Given the description of an element on the screen output the (x, y) to click on. 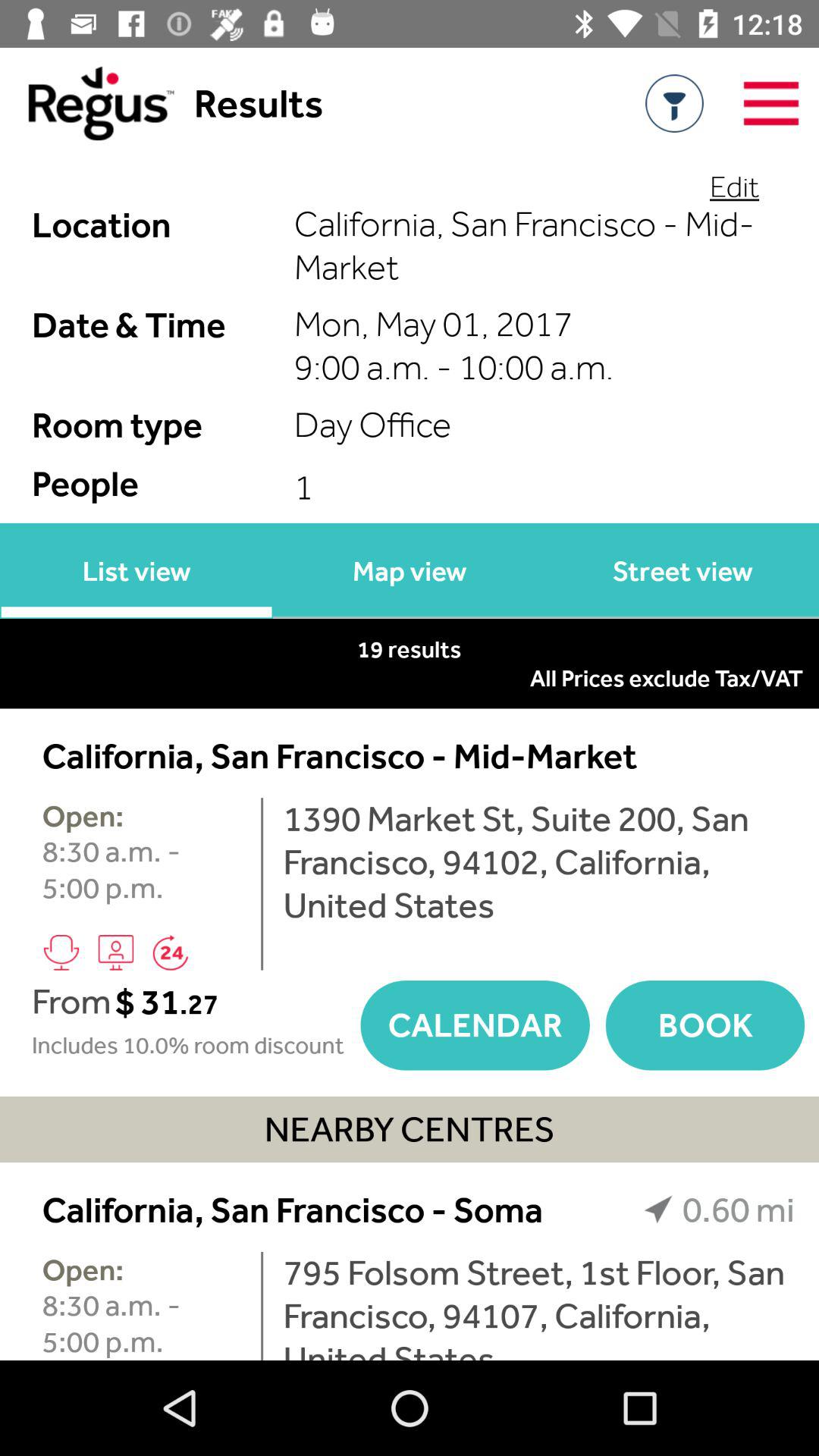
tap icon to the left of the 795 folsom street (262, 1305)
